Given the description of an element on the screen output the (x, y) to click on. 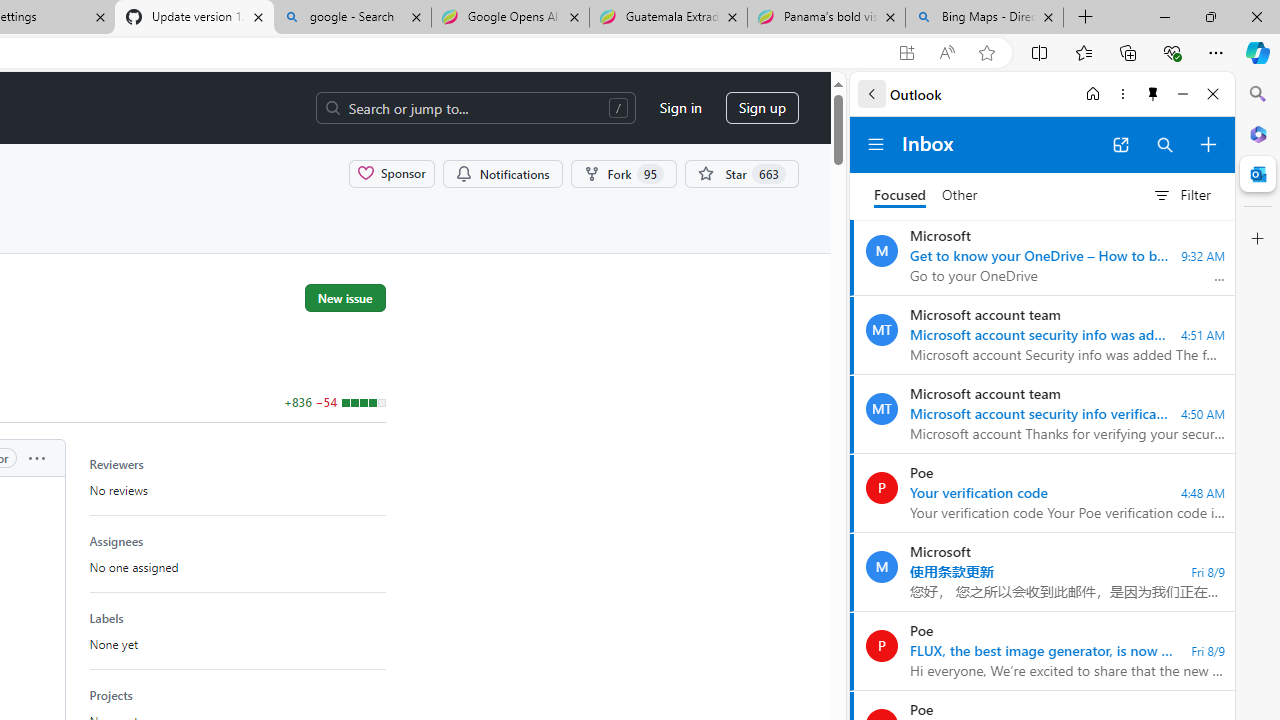
Fork 95 (623, 173)
Focused Inbox, toggle to go to Other Inbox (925, 195)
You must be signed in to change notification settings (502, 173)
New issue (345, 297)
Focused (900, 195)
